Given the description of an element on the screen output the (x, y) to click on. 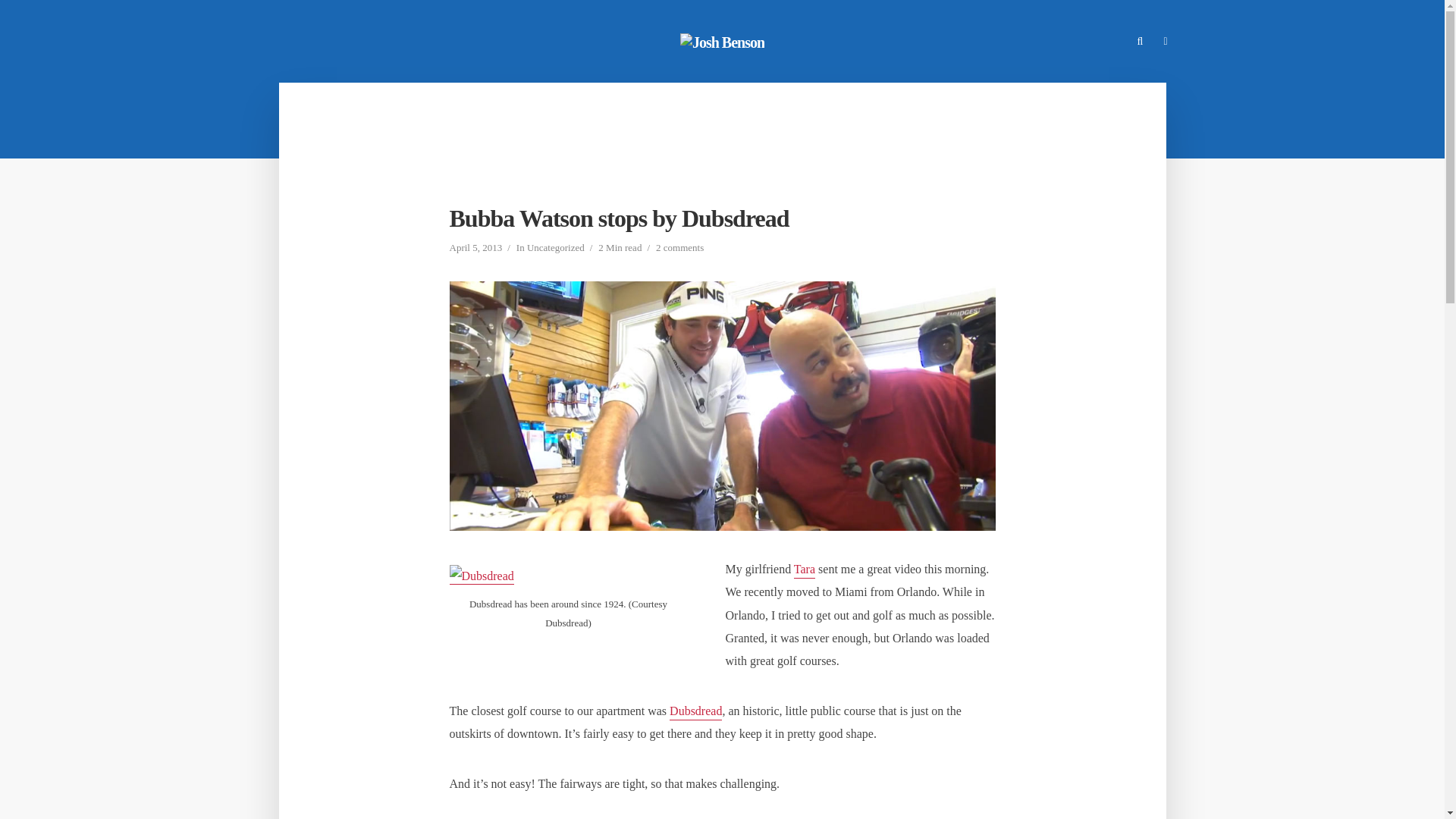
Tara Manis - Television News Producer (804, 570)
Dubsdread (695, 712)
Tara (804, 570)
2 comments (679, 248)
Dubsdread Golf Course (695, 712)
Uncategorized (556, 248)
